Given the description of an element on the screen output the (x, y) to click on. 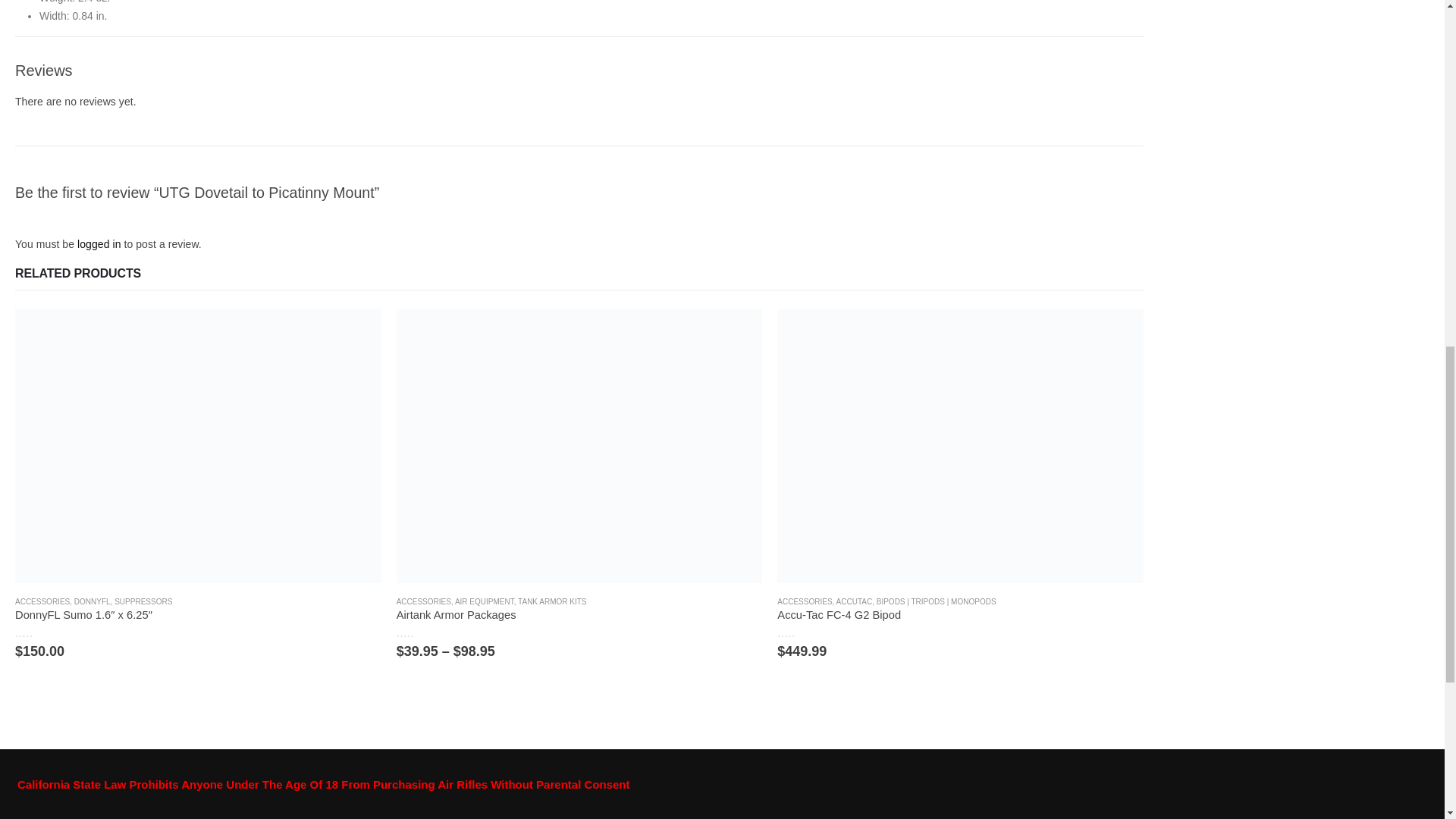
0 (802, 632)
0 (39, 632)
0 (421, 632)
